Given the description of an element on the screen output the (x, y) to click on. 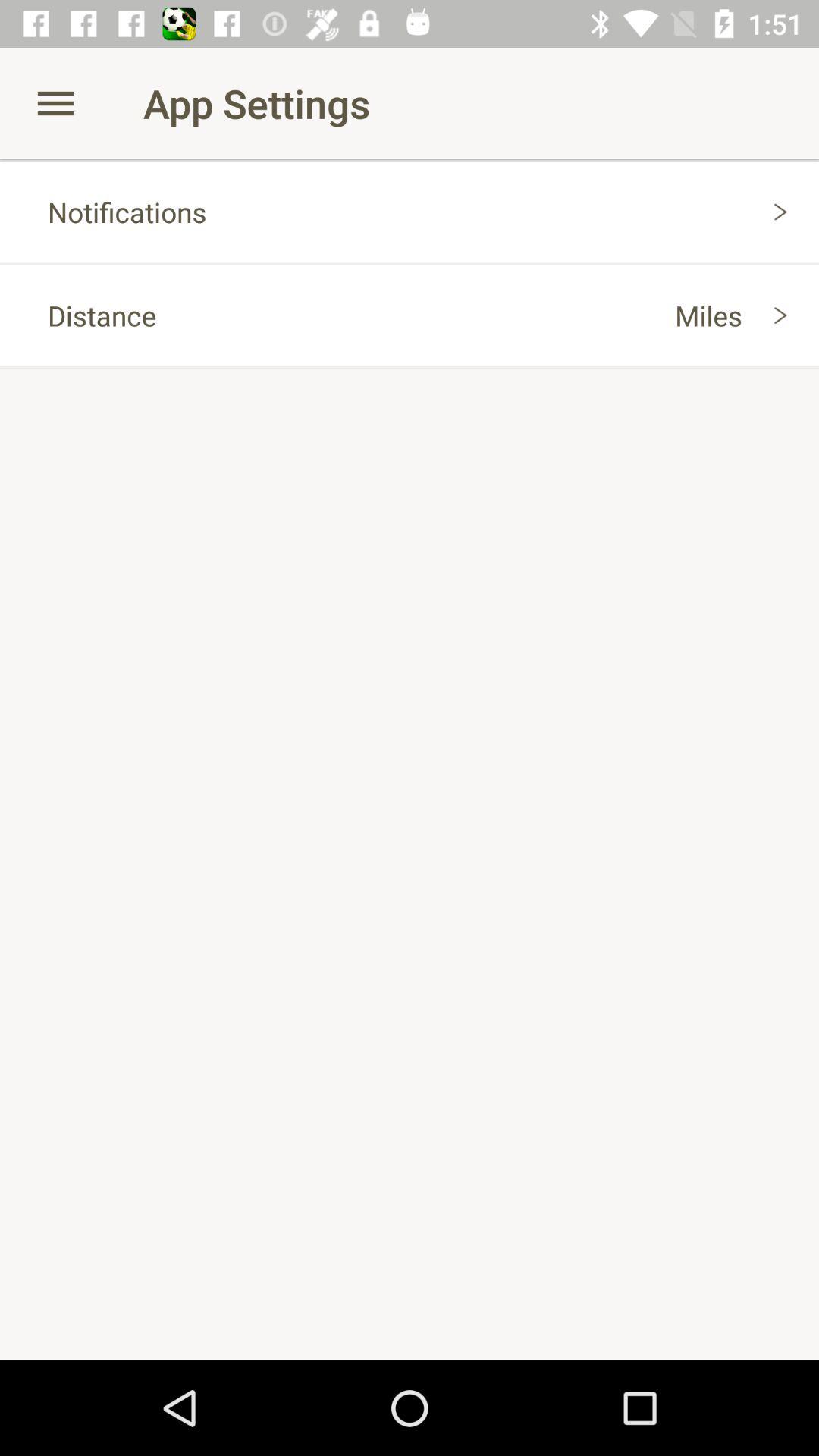
tap the icon above the notifications icon (55, 103)
